Given the description of an element on the screen output the (x, y) to click on. 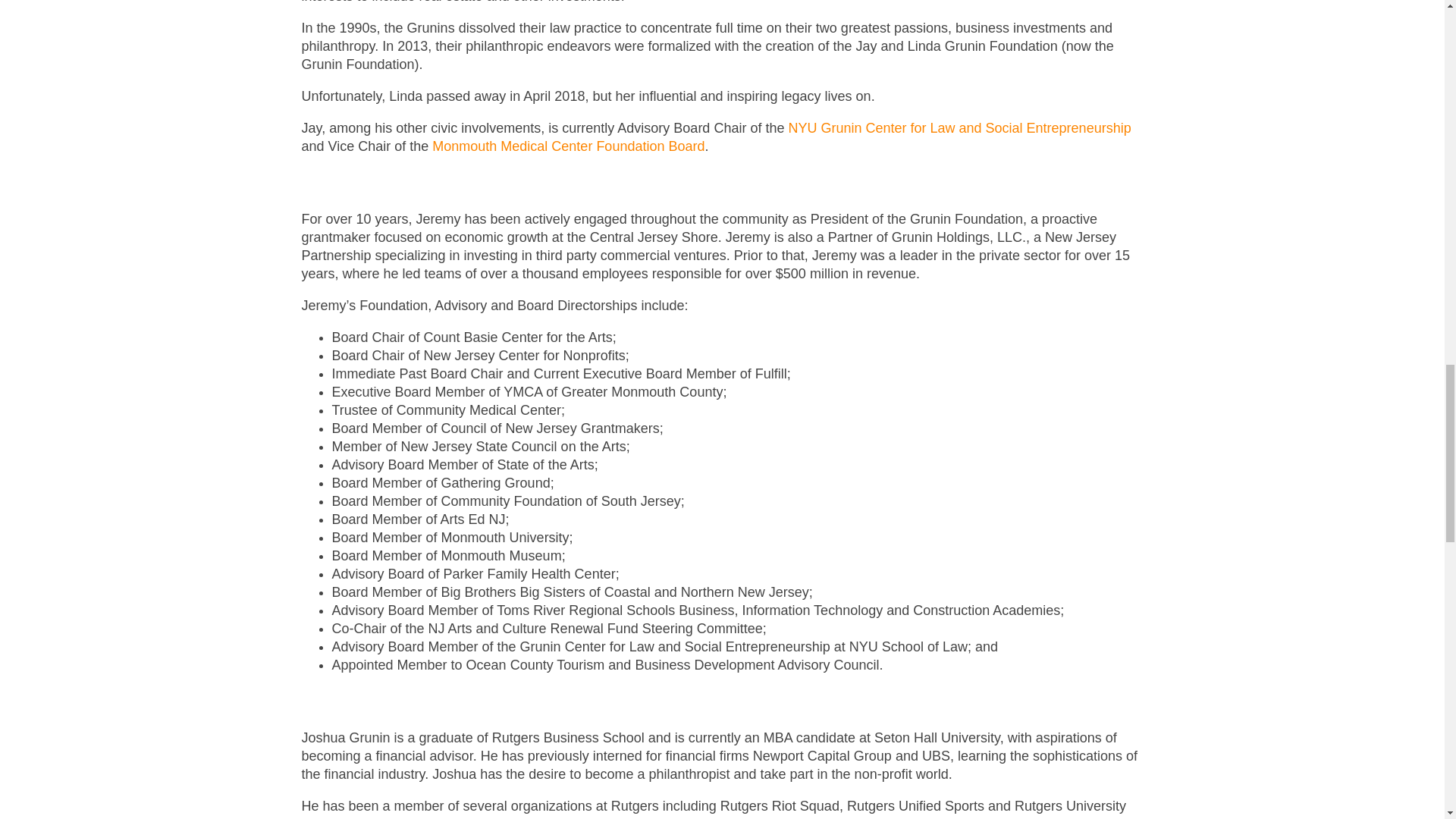
NYU Grunin Center for Law and Social Entrepreneurship (959, 127)
Monmouth Medical Center Foundation Board (568, 145)
